Given the description of an element on the screen output the (x, y) to click on. 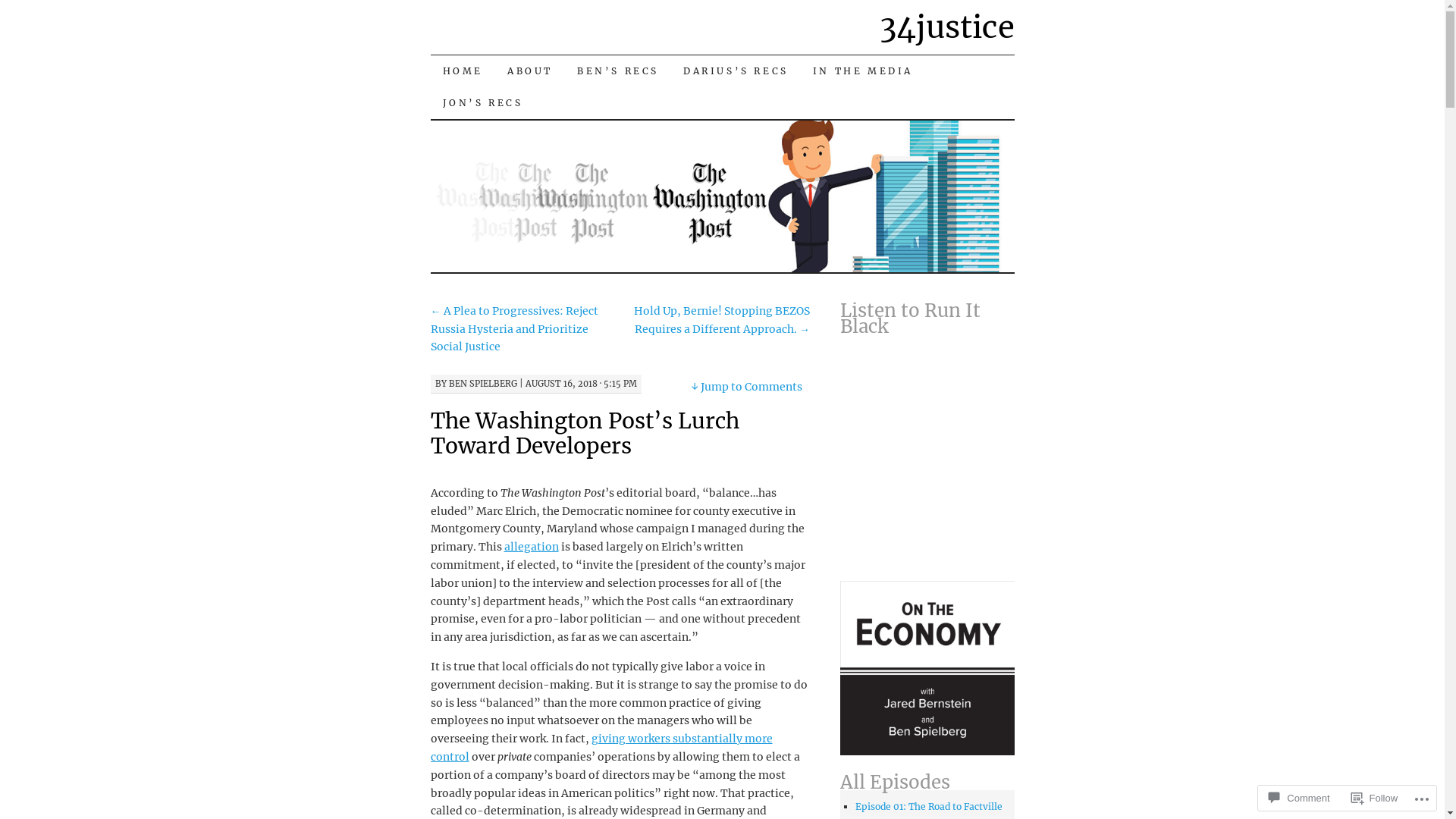
BEN SPIELBERG Element type: text (482, 383)
allegation Element type: text (530, 546)
34justice Element type: text (946, 27)
HOME Element type: text (462, 71)
Comment Element type: text (1298, 797)
IN THE MEDIA Element type: text (862, 71)
ABOUT Element type: text (529, 71)
giving workers substantially more control Element type: text (601, 747)
Follow Element type: text (1374, 797)
Episode 01: The Road to Factville Element type: text (928, 806)
